Given the description of an element on the screen output the (x, y) to click on. 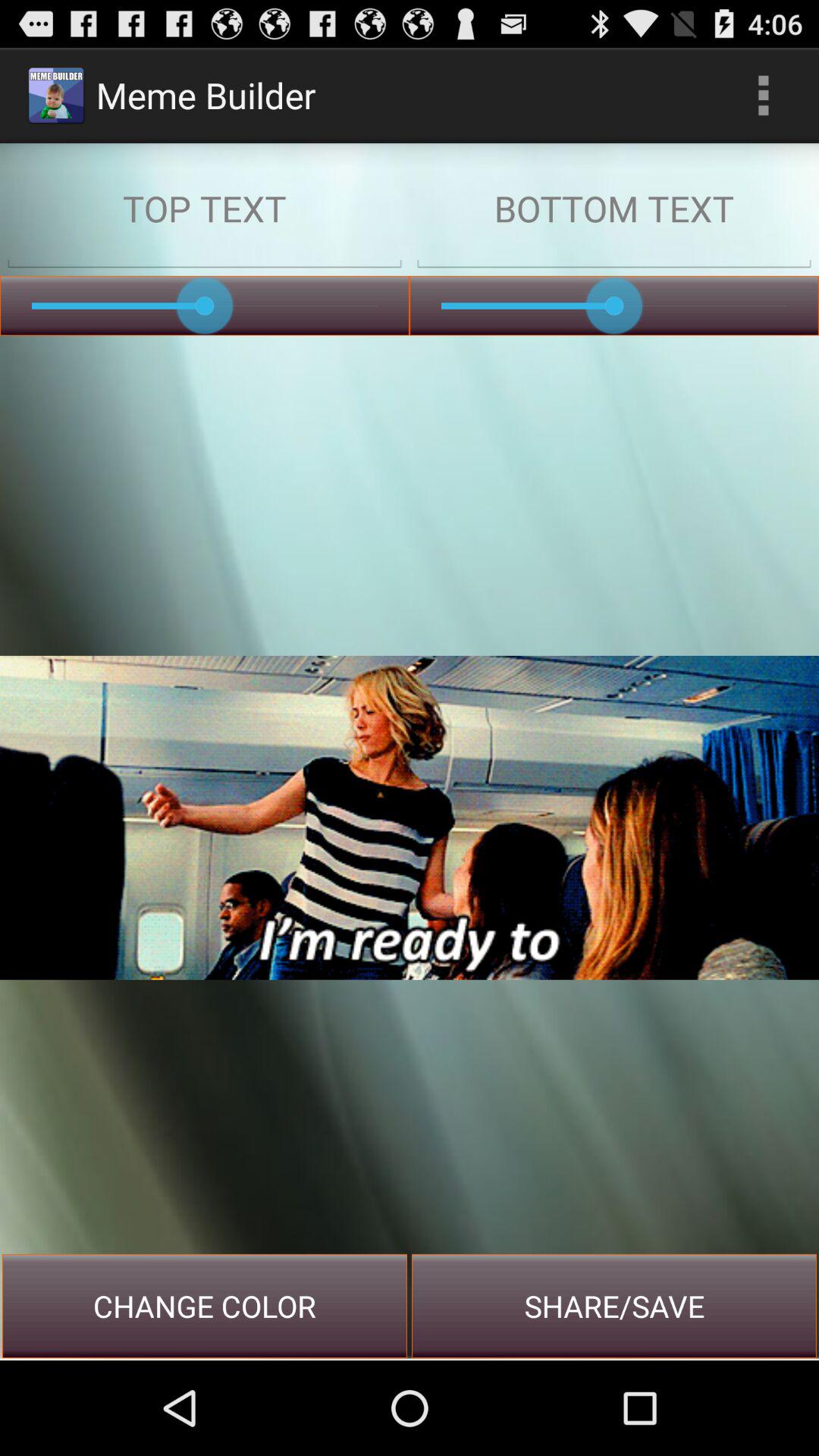
open the icon to the left of share/save item (204, 1306)
